Given the description of an element on the screen output the (x, y) to click on. 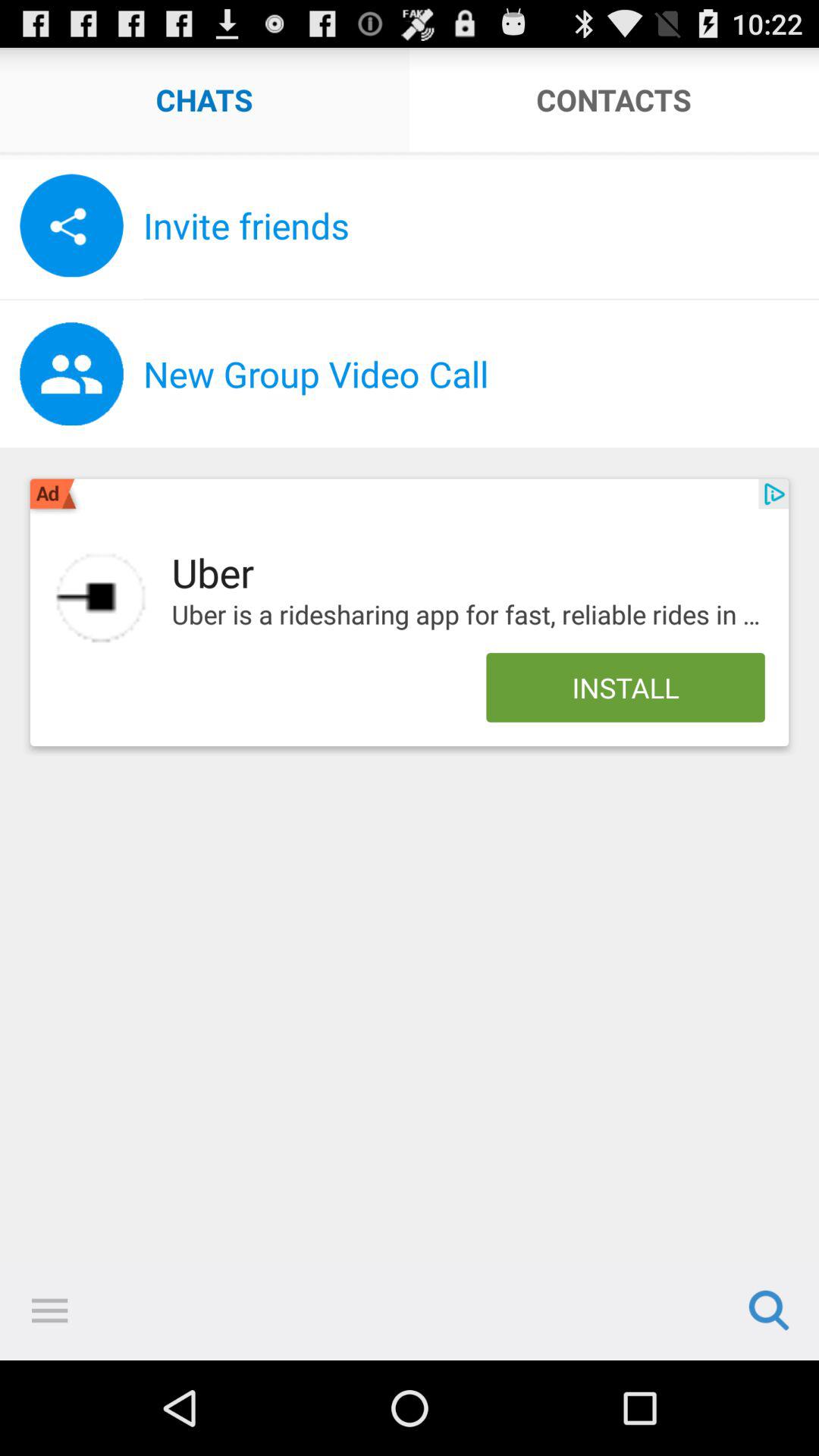
press item above install item (467, 615)
